Given the description of an element on the screen output the (x, y) to click on. 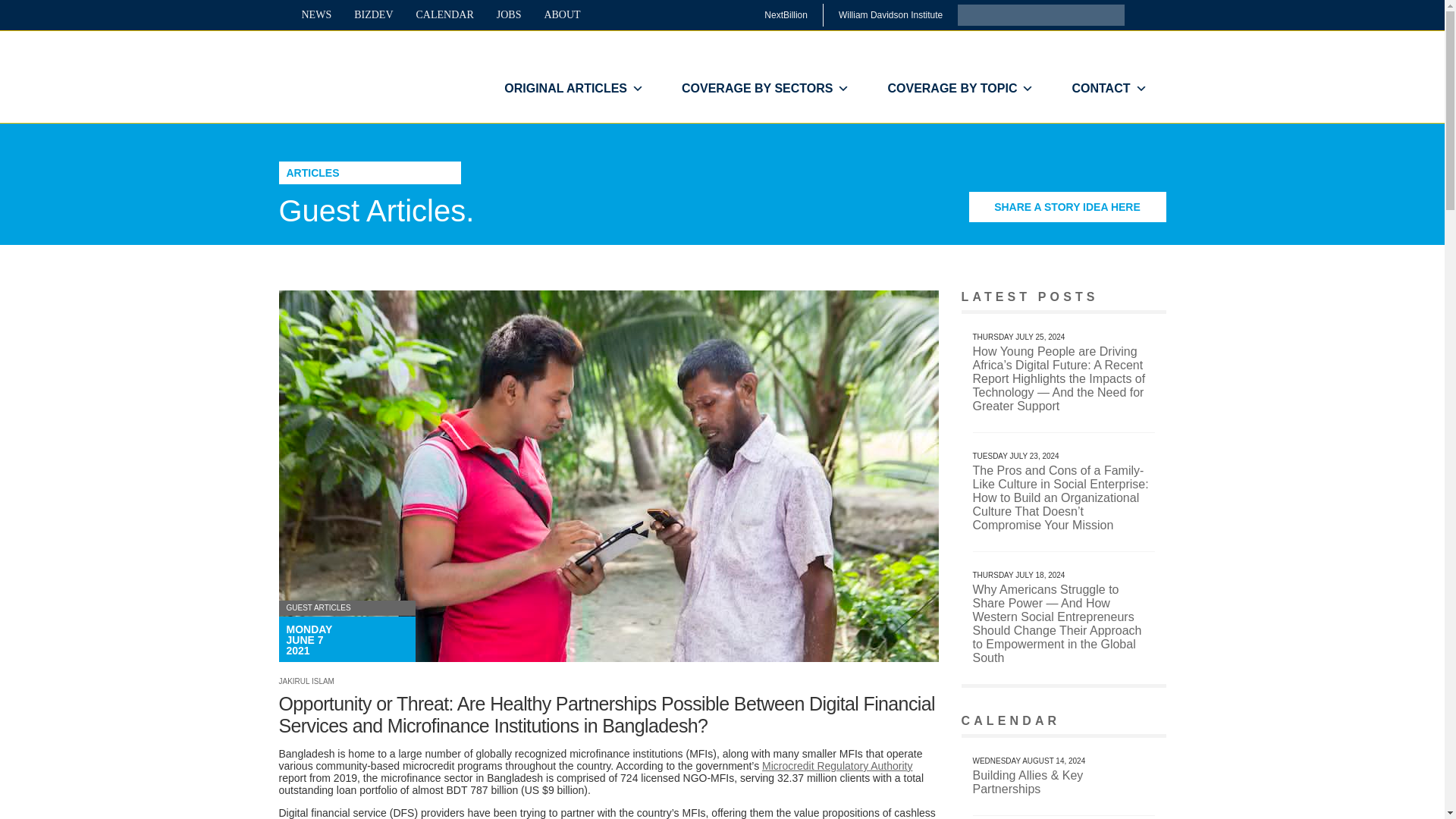
COVERAGE BY SECTORS (764, 88)
ORIGINAL ARTICLES (573, 88)
COVERAGE BY TOPIC (959, 88)
